Given the description of an element on the screen output the (x, y) to click on. 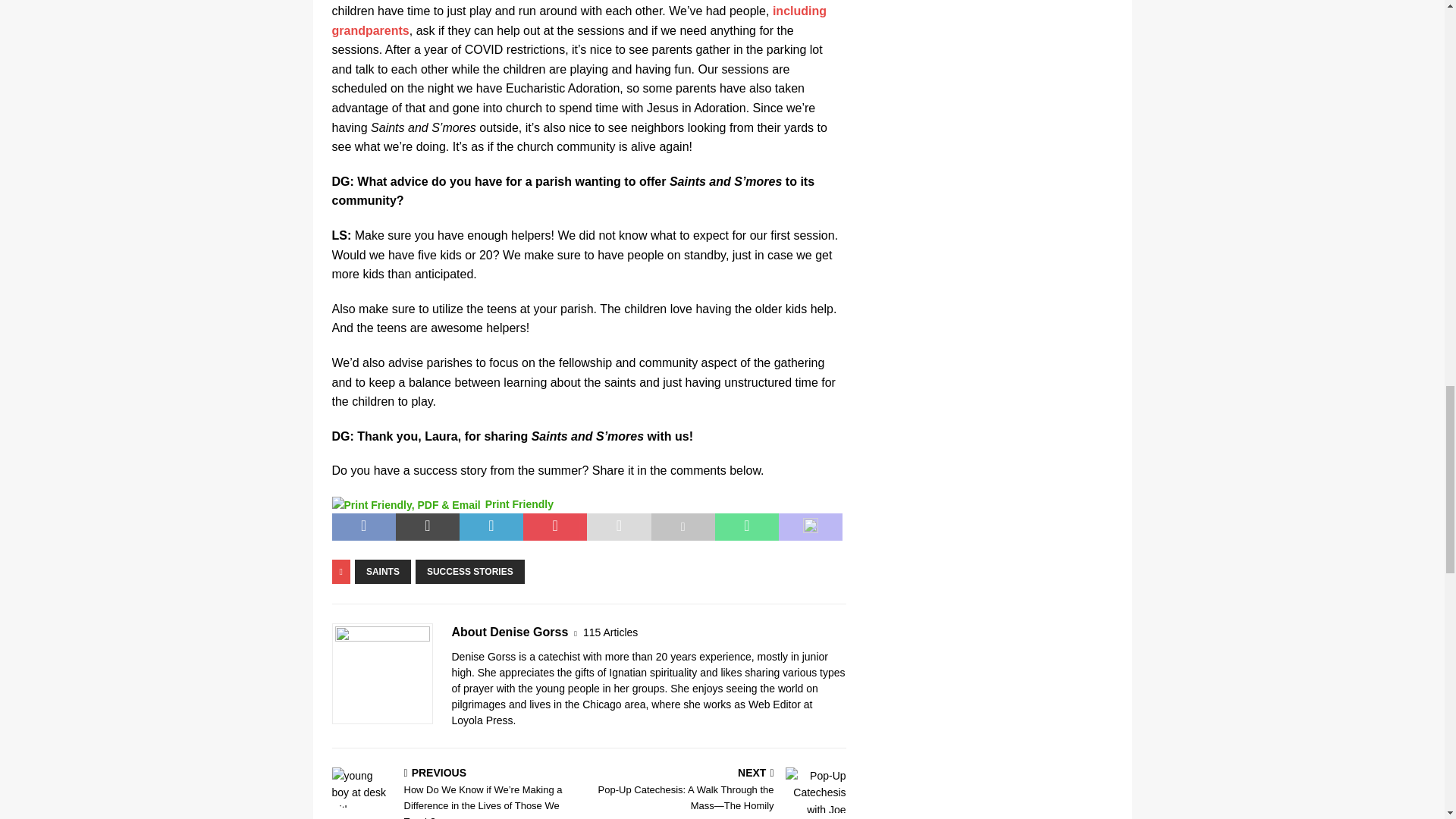
Share on Whatsapp (746, 526)
Tweet This Post (428, 526)
Print this article (682, 526)
Share on Facebook (363, 526)
Share on LinkedIn (491, 526)
Send this article to a friend (618, 526)
More articles written by Denise Gorss' (610, 632)
Pin This Post (554, 526)
Share On Mastodon (810, 526)
